Given the description of an element on the screen output the (x, y) to click on. 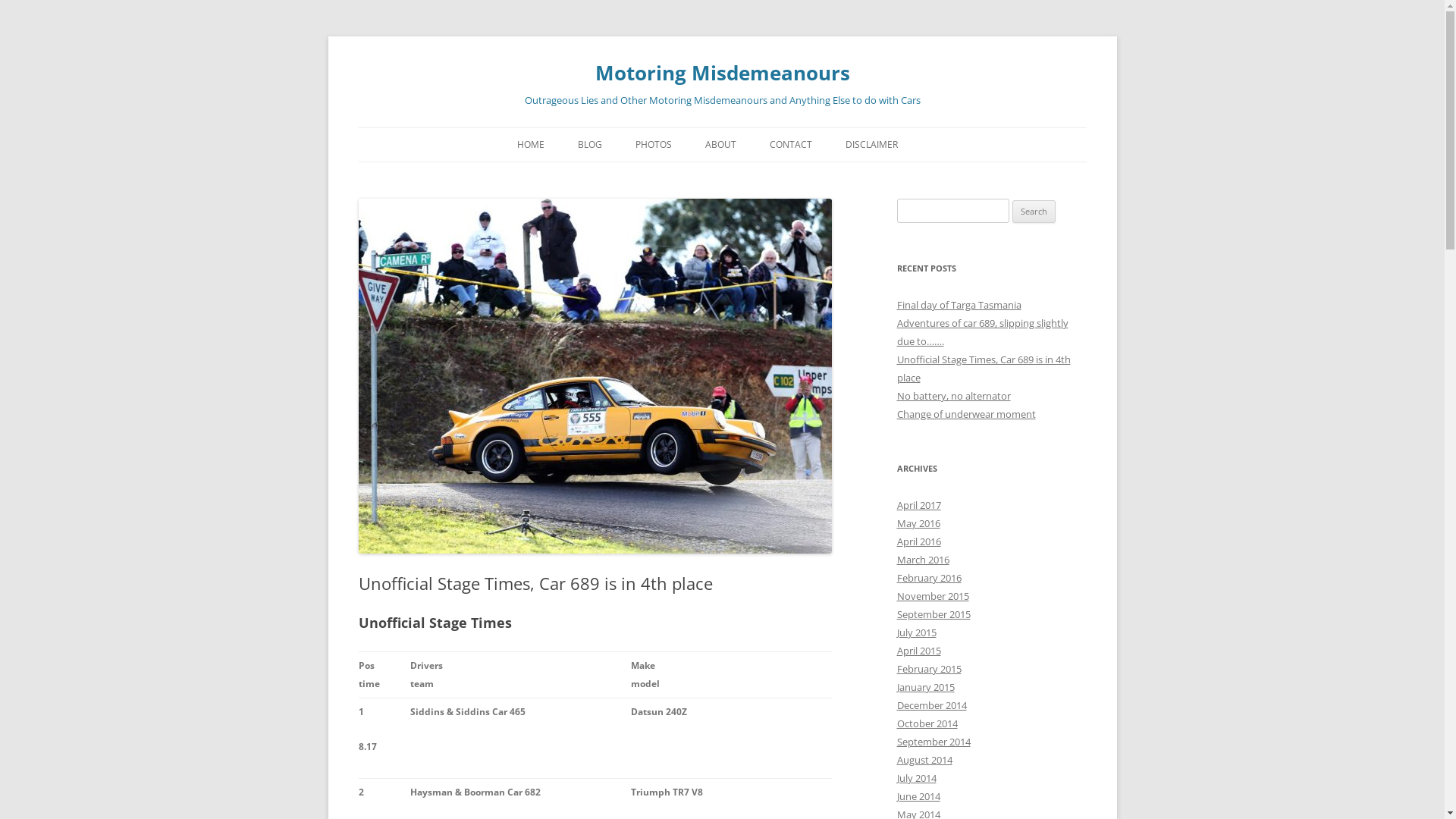
February 2015 Element type: text (928, 668)
PHOTOS Element type: text (653, 144)
September 2015 Element type: text (932, 614)
April 2015 Element type: text (918, 650)
November 2015 Element type: text (932, 595)
DISCLAIMER Element type: text (870, 144)
Motoring Misdemeanours Element type: text (721, 72)
September 2014 Element type: text (932, 741)
Unofficial Stage Times, Car 689 is in 4th place Element type: text (983, 368)
July 2015 Element type: text (915, 632)
HOME Element type: text (530, 144)
Final day of Targa Tasmania Element type: text (958, 304)
April 2016 Element type: text (918, 541)
Search Element type: text (1033, 211)
ABOUT Element type: text (720, 144)
December 2014 Element type: text (931, 705)
Change of underwear moment Element type: text (965, 413)
August 2014 Element type: text (923, 759)
Skip to content Element type: text (759, 132)
May 2016 Element type: text (917, 523)
March 2016 Element type: text (922, 559)
April 2017 Element type: text (918, 504)
June 2014 Element type: text (917, 796)
January 2015 Element type: text (924, 686)
October 2014 Element type: text (926, 723)
No battery, no alternator Element type: text (953, 395)
July 2014 Element type: text (915, 777)
CONTACT Element type: text (789, 144)
February 2016 Element type: text (928, 577)
BLOG Element type: text (589, 144)
